Given the description of an element on the screen output the (x, y) to click on. 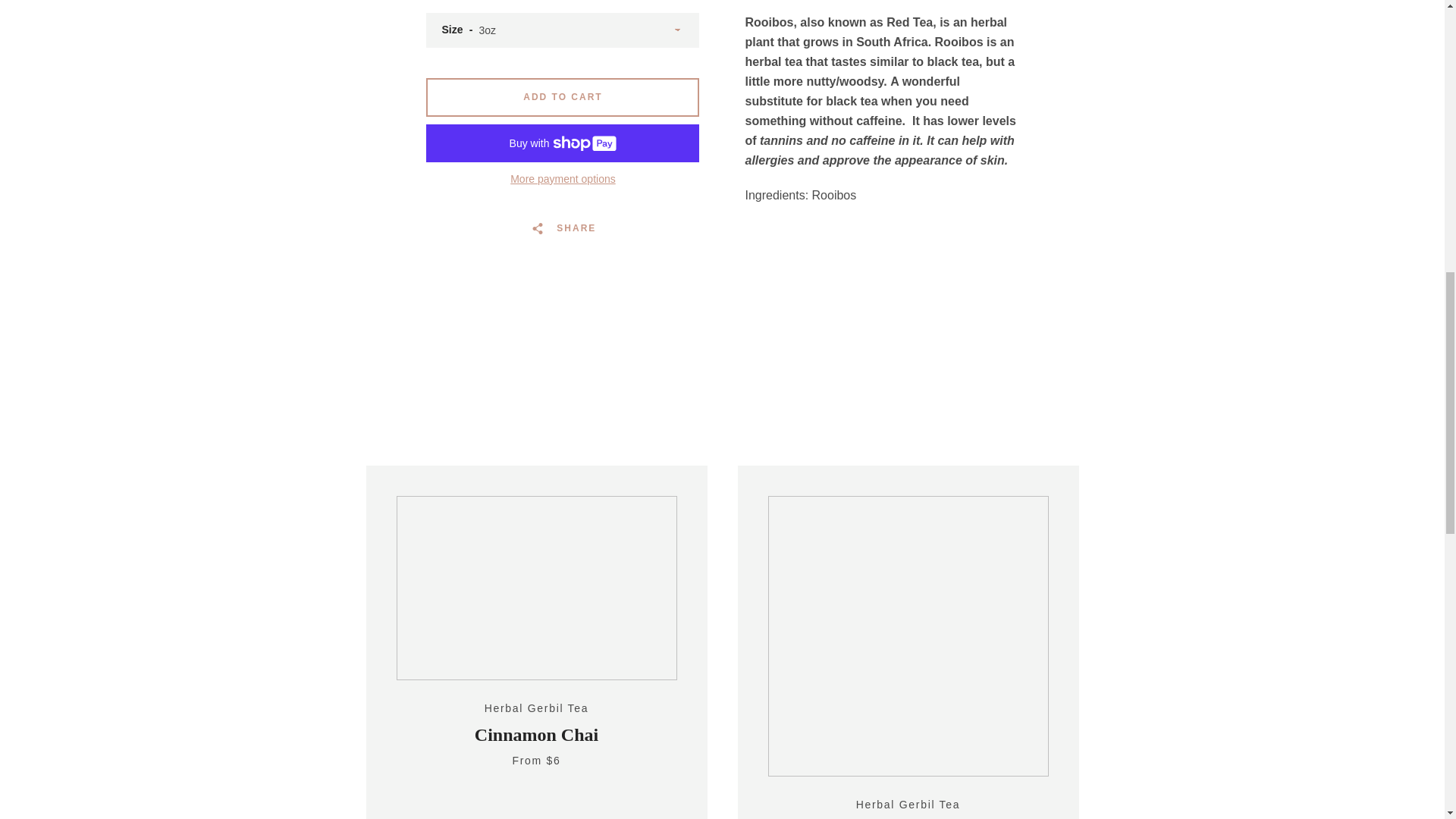
ADD TO CART (562, 96)
More payment options (562, 179)
SHARE (563, 228)
